Given the description of an element on the screen output the (x, y) to click on. 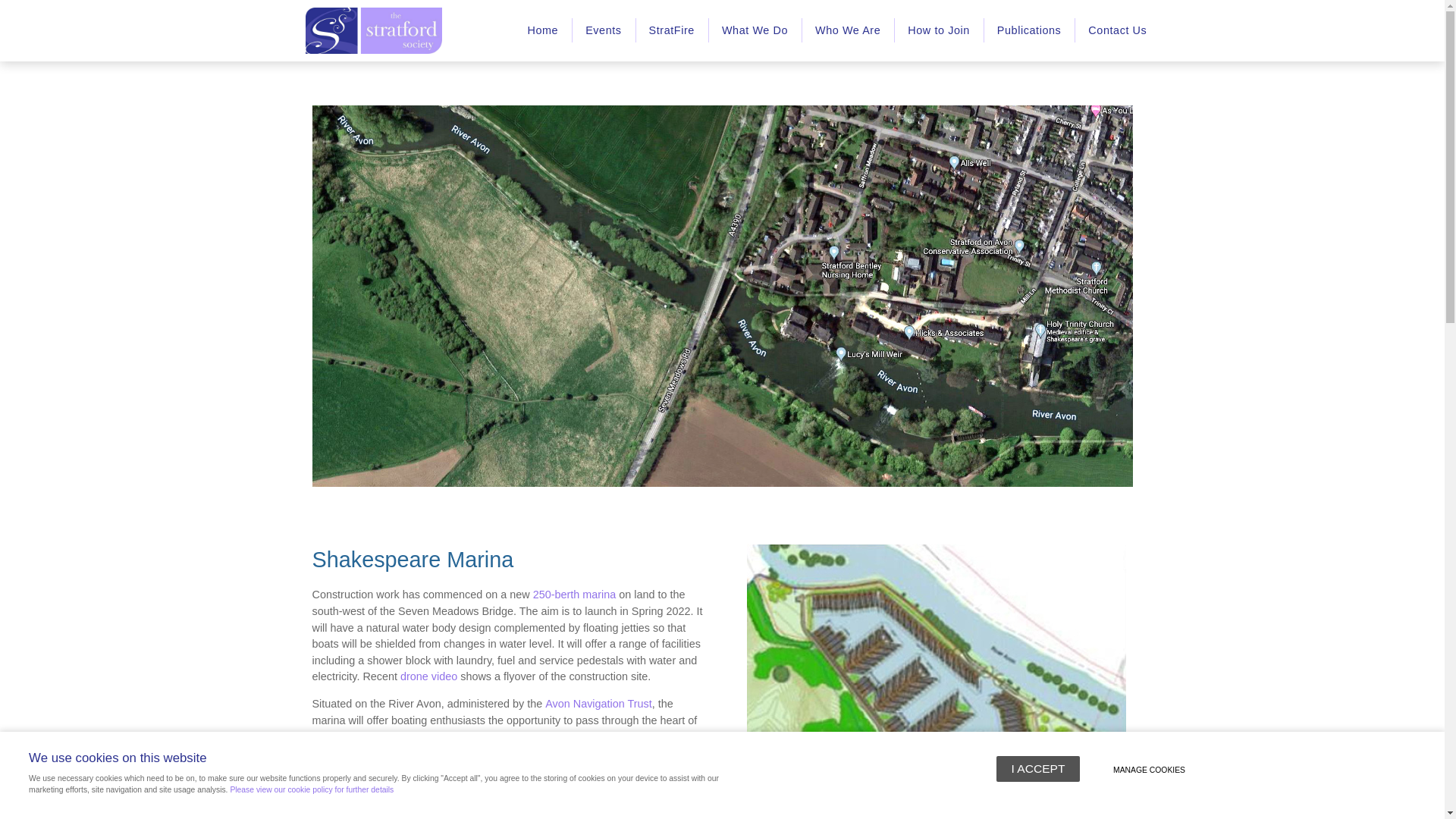
Events (602, 30)
Who We Are (847, 30)
Home (541, 30)
StratFire (670, 30)
What We Do (753, 30)
